Given the description of an element on the screen output the (x, y) to click on. 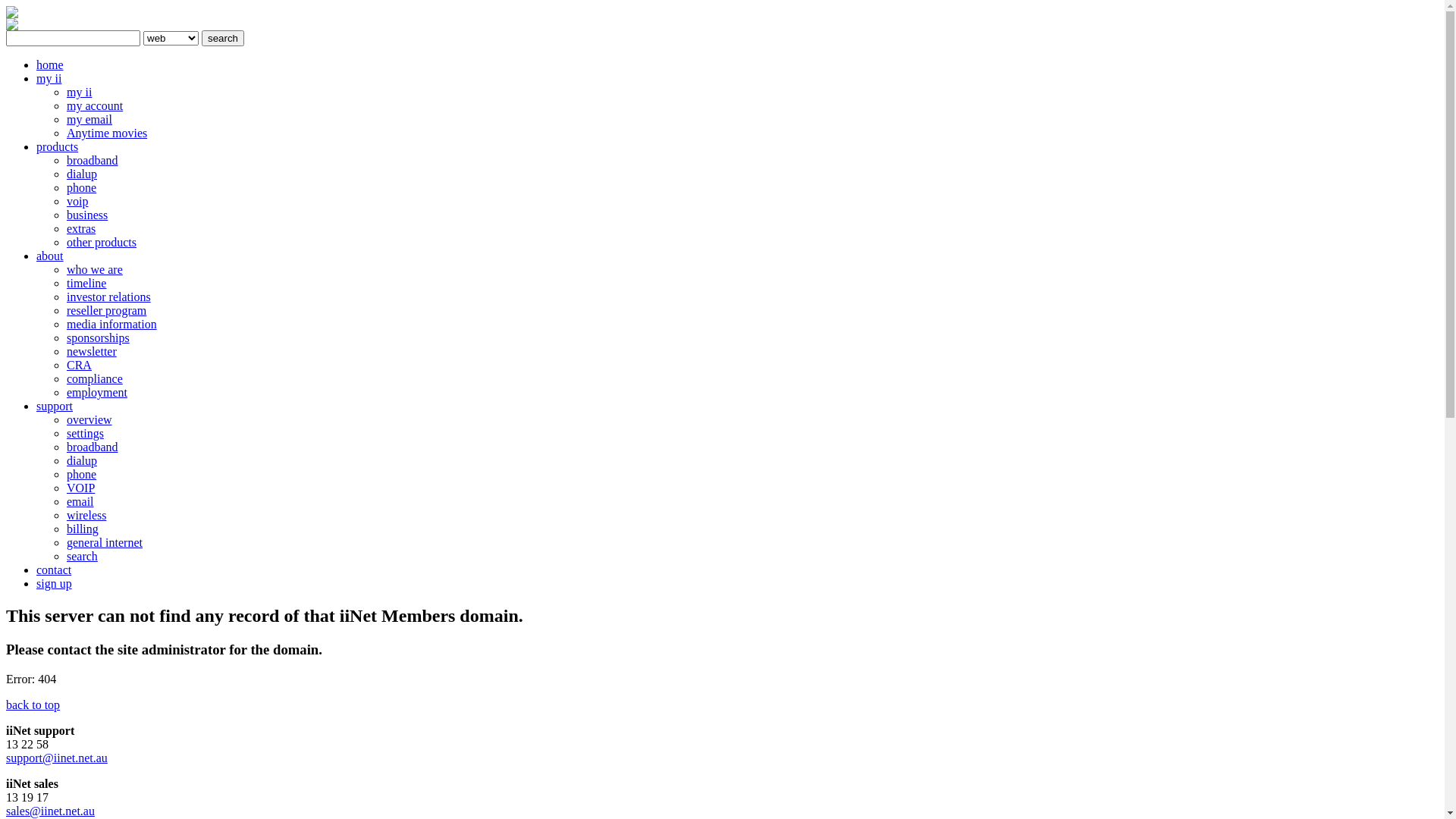
my ii Element type: text (78, 91)
back to top Element type: text (32, 704)
search Element type: text (222, 38)
investor relations Element type: text (108, 296)
dialup Element type: text (81, 460)
settings Element type: text (84, 432)
overview Element type: text (89, 419)
about Element type: text (49, 255)
my account Element type: text (94, 105)
broadband Element type: text (92, 159)
dialup Element type: text (81, 173)
email Element type: text (80, 501)
Anytime movies Element type: text (106, 132)
products Element type: text (57, 146)
wireless Element type: text (86, 514)
contact Element type: text (53, 569)
my ii Element type: text (48, 78)
other products Element type: text (101, 241)
support Element type: text (54, 405)
my email Element type: text (89, 118)
media information Element type: text (111, 323)
search Element type: text (81, 555)
support@iinet.net.au Element type: text (56, 757)
compliance Element type: text (94, 378)
broadband Element type: text (92, 446)
home Element type: text (49, 64)
phone Element type: text (81, 473)
business Element type: text (86, 214)
voip Element type: text (76, 200)
newsletter Element type: text (91, 351)
sign up Element type: text (54, 583)
timeline Element type: text (86, 282)
reseller program Element type: text (106, 310)
employment Element type: text (96, 391)
who we are Element type: text (94, 269)
extras Element type: text (80, 228)
CRA Element type: text (78, 364)
VOIP Element type: text (80, 487)
sponsorships Element type: text (97, 337)
phone Element type: text (81, 187)
billing Element type: text (82, 528)
sales@iinet.net.au Element type: text (50, 810)
general internet Element type: text (104, 542)
